Given the description of an element on the screen output the (x, y) to click on. 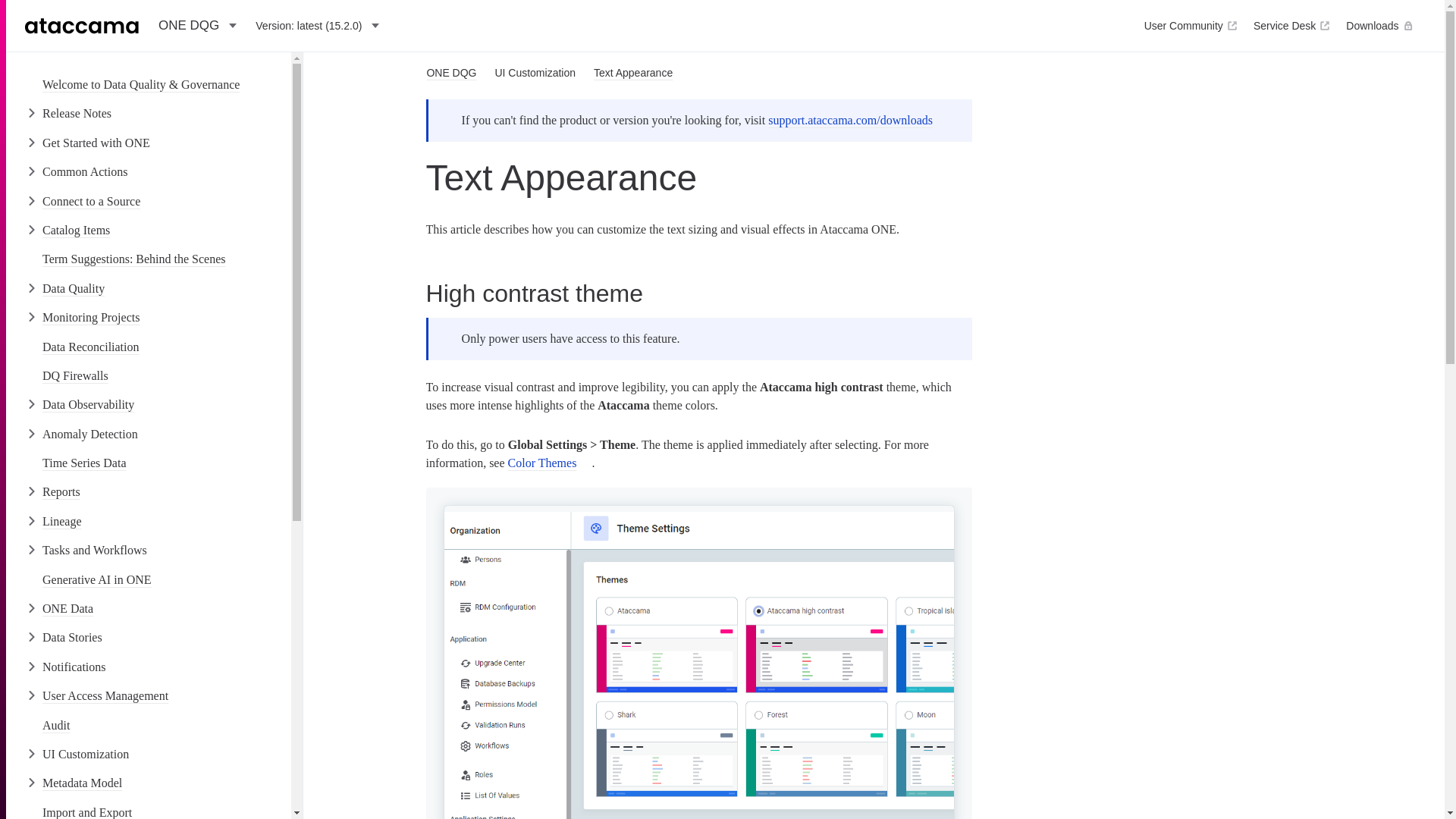
Service Desk (1290, 25)
User Community (1189, 25)
Downloads (1379, 25)
ONE DQG (196, 25)
